Given the description of an element on the screen output the (x, y) to click on. 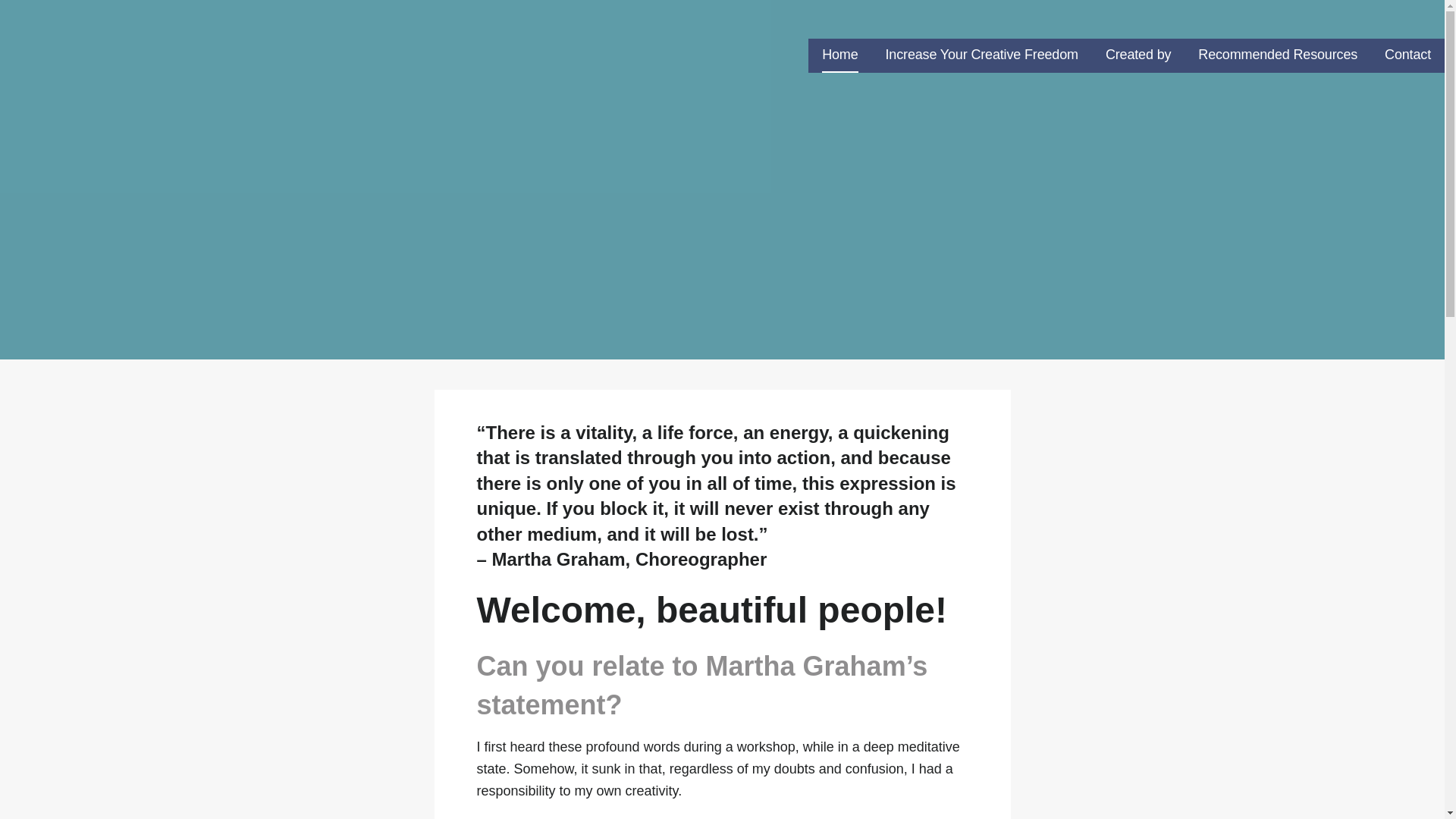
Created by (1137, 55)
Home (839, 55)
Increase Your Creative Freedom (981, 55)
Creative Freedom (100, 48)
Recommended Resources (1277, 55)
Contact (1407, 55)
